Given the description of an element on the screen output the (x, y) to click on. 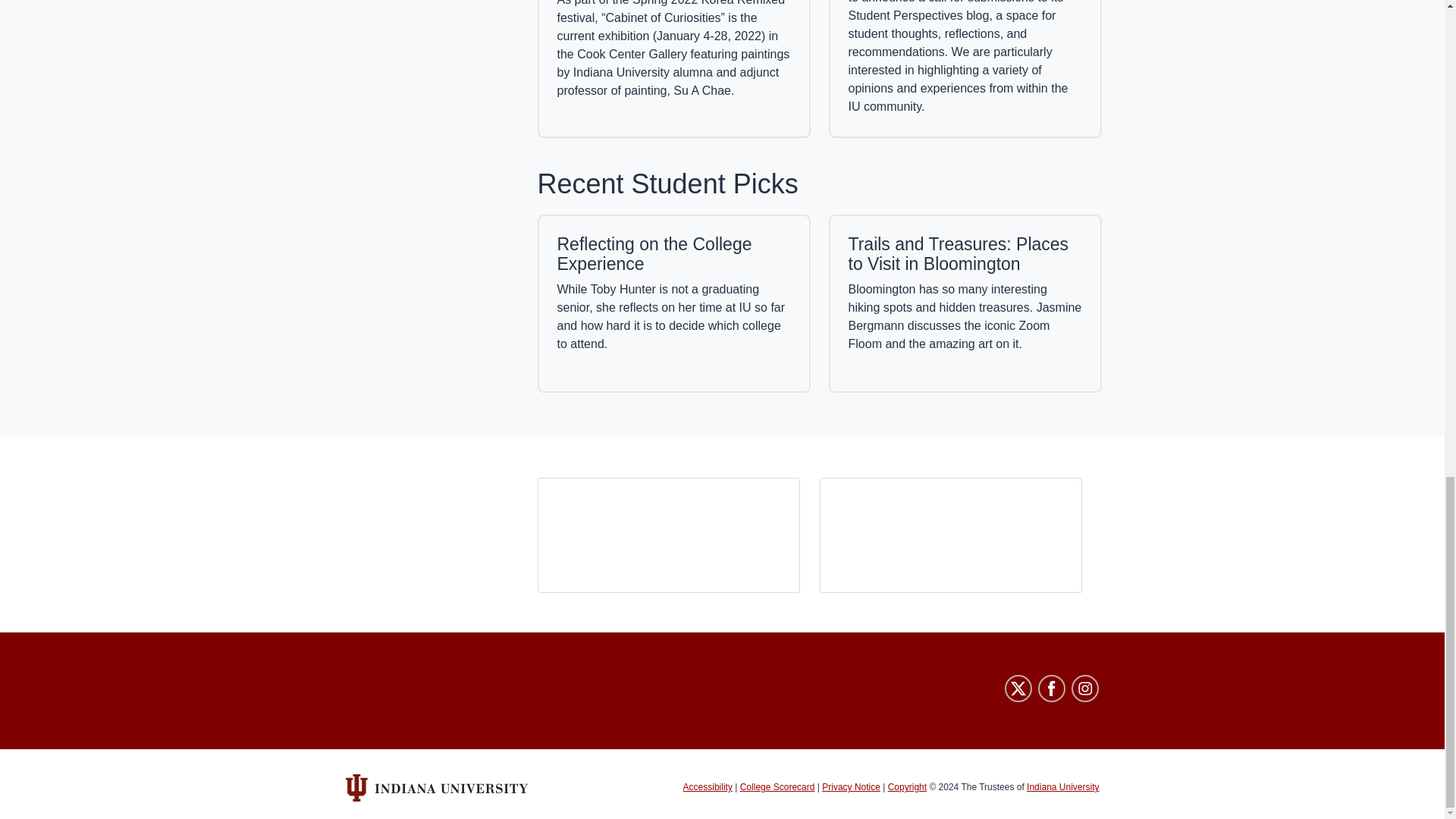
Instagram post (668, 534)
Instagram post (949, 534)
